Given the description of an element on the screen output the (x, y) to click on. 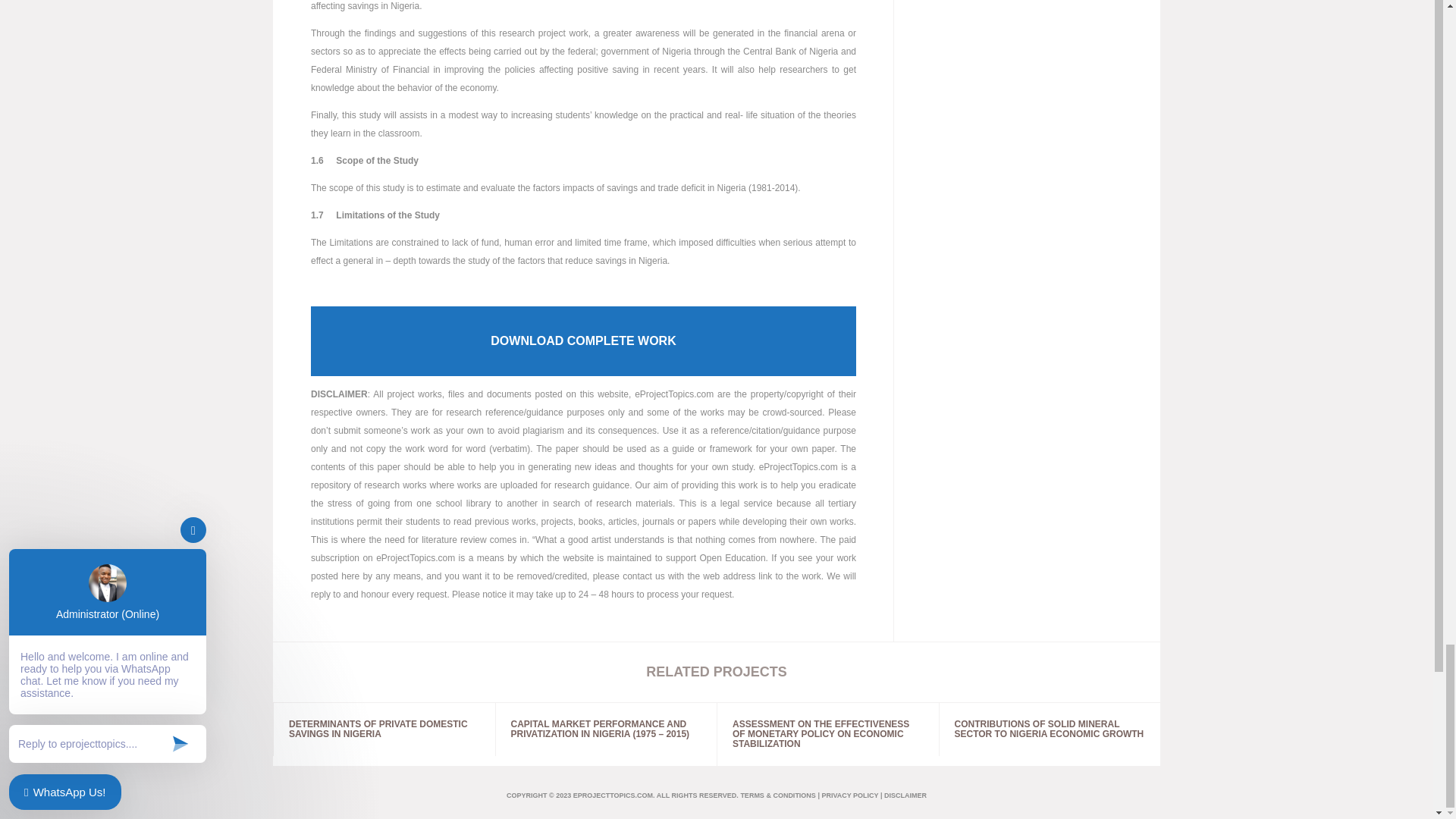
DISCLAIMER (904, 795)
PRIVACY POLICY (849, 795)
DOWNLOAD COMPLETE WORK (583, 340)
DETERMINANTS OF PRIVATE DOMESTIC SAVINGS IN NIGERIA (384, 728)
